Given the description of an element on the screen output the (x, y) to click on. 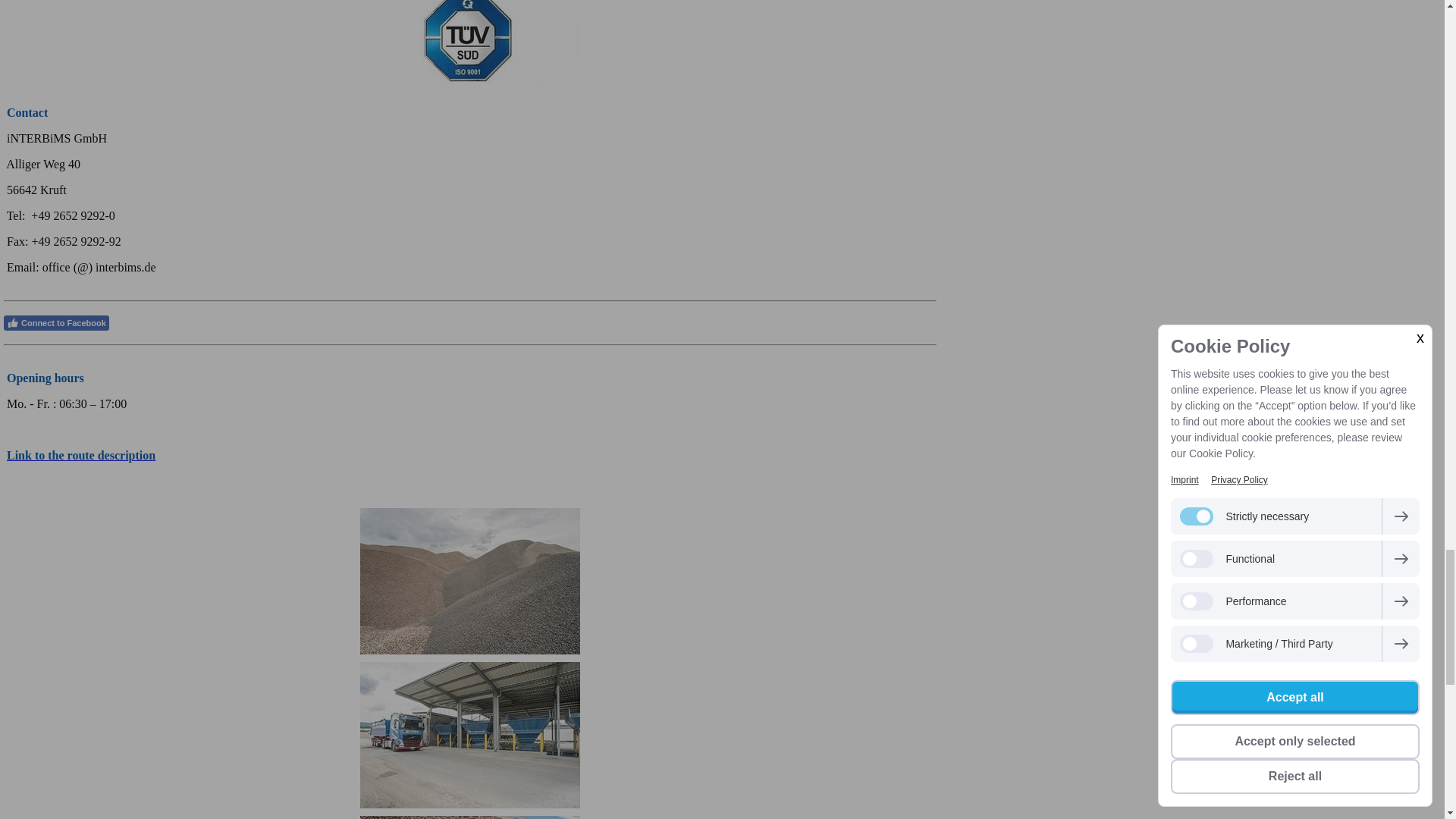
Anfahrt (81, 454)
